Given the description of an element on the screen output the (x, y) to click on. 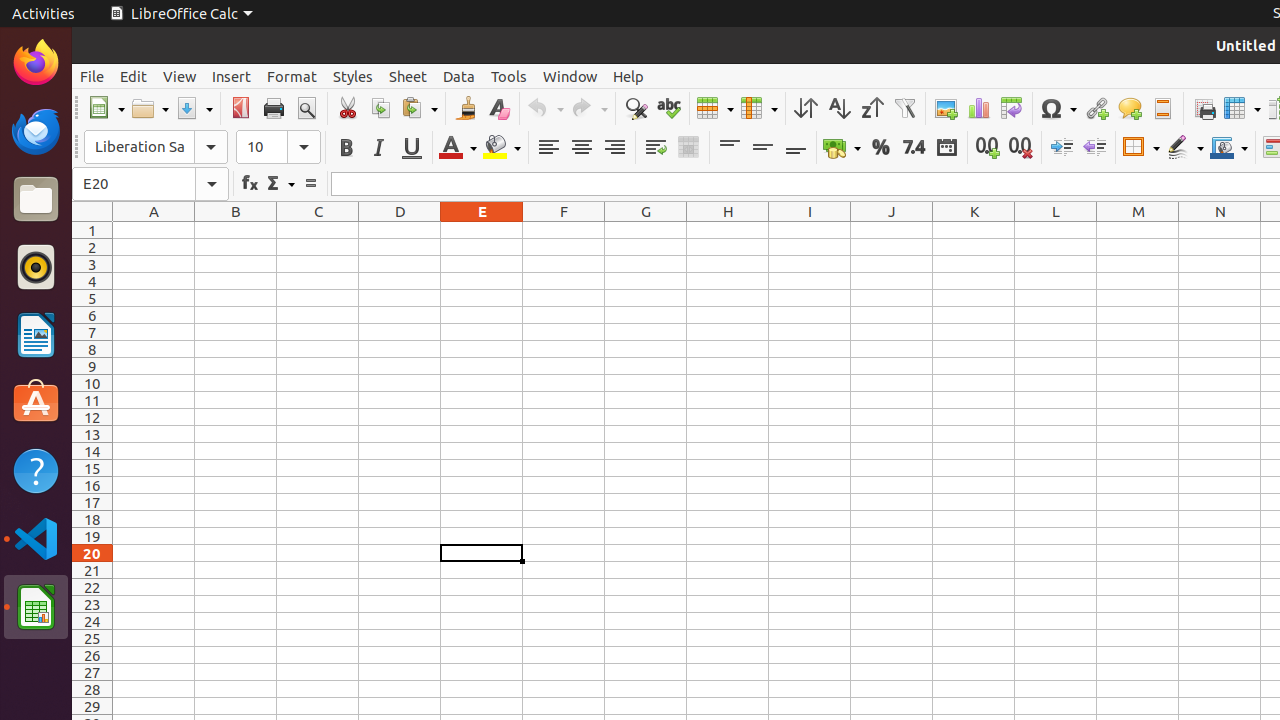
Format Element type: menu (292, 76)
Cut Element type: push-button (347, 108)
Headers and Footers Element type: push-button (1162, 108)
Image Element type: push-button (945, 108)
D1 Element type: table-cell (400, 230)
